Given the description of an element on the screen output the (x, y) to click on. 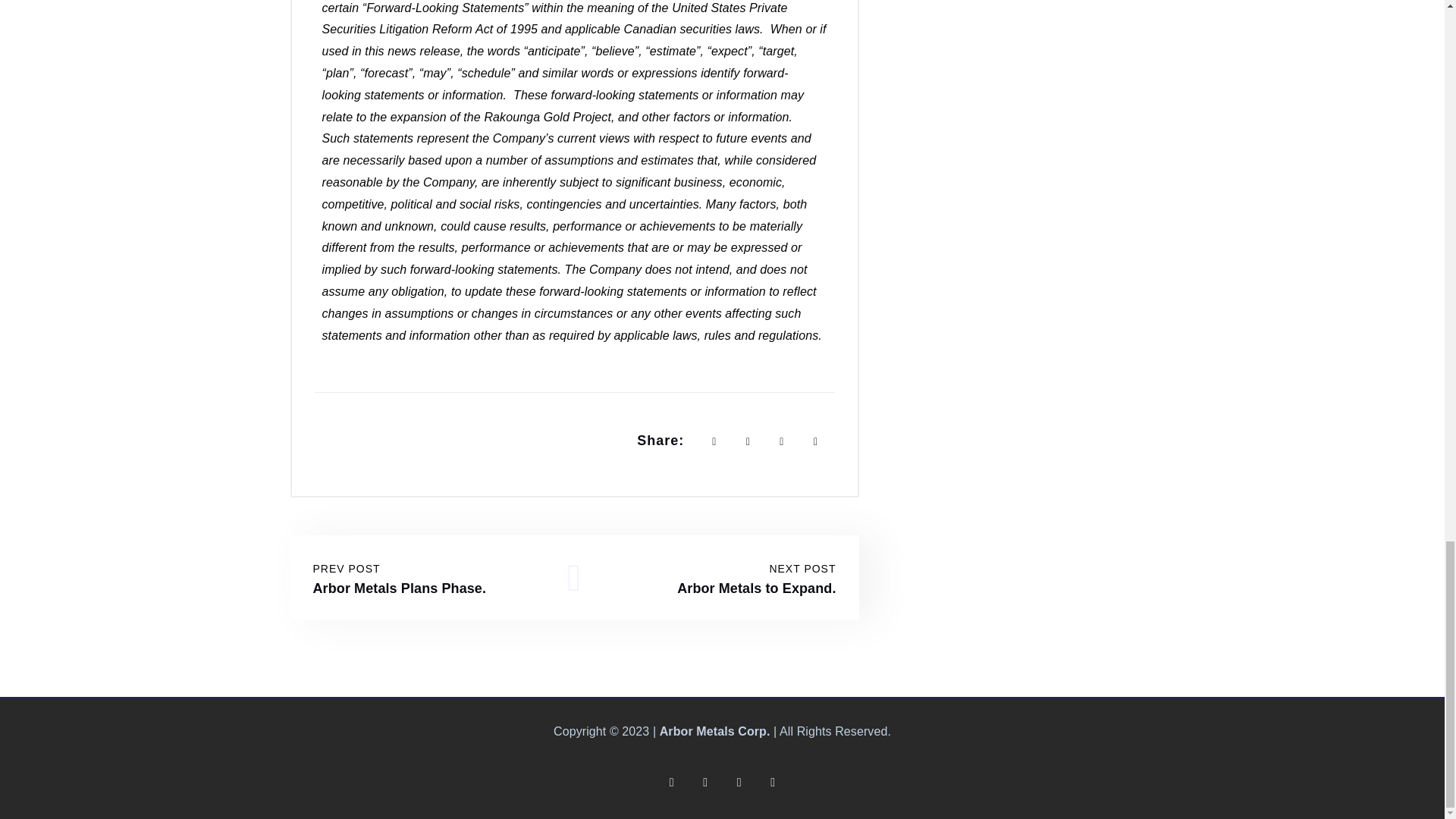
Arbor Metals Corp. (399, 577)
